Given the description of an element on the screen output the (x, y) to click on. 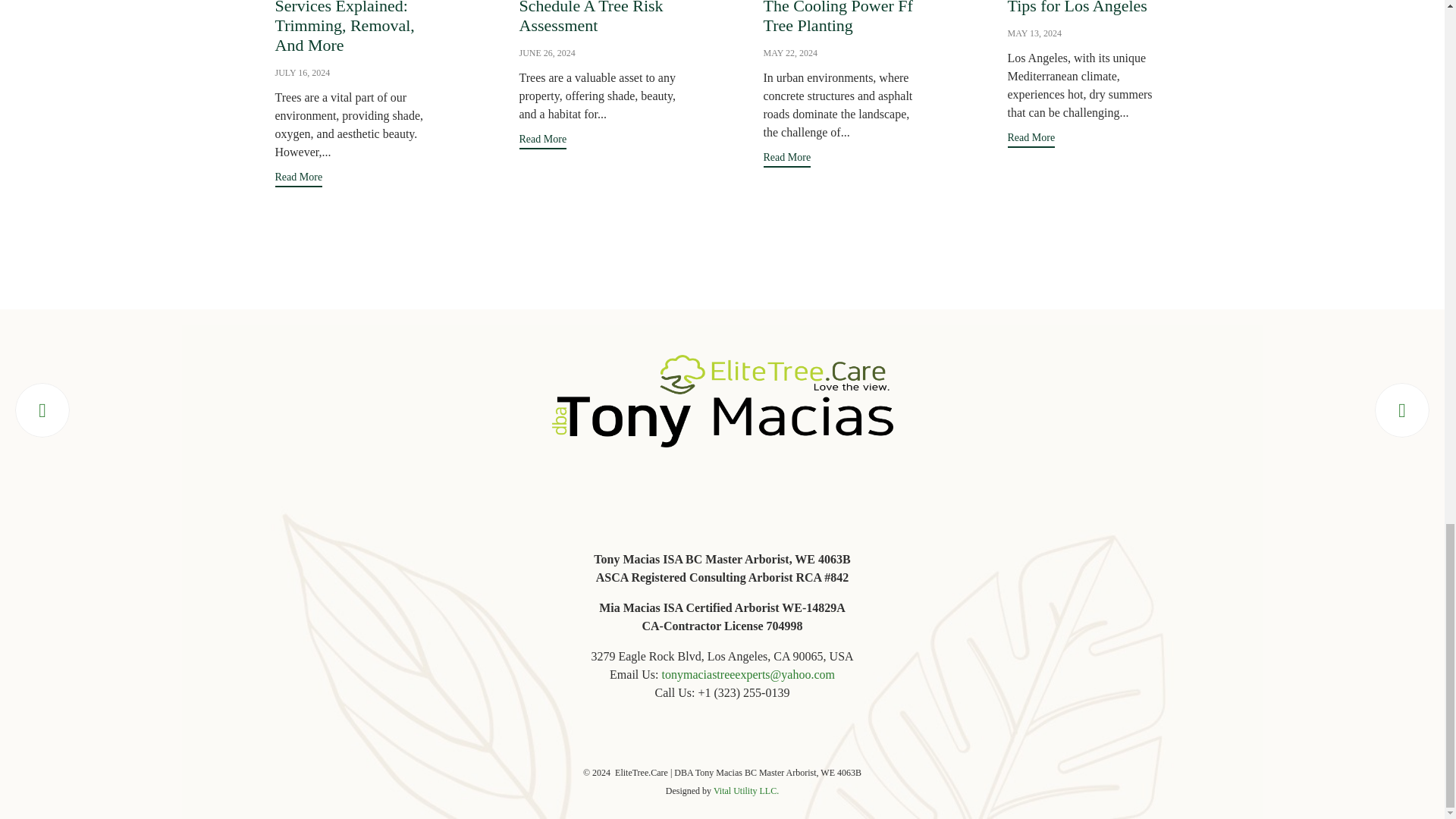
Combating Urban Heat: The Cooling Power Ff Tree Planting (842, 18)
JULY 16, 2024 (302, 72)
Combating Urban Heat: The Cooling Power Ff Tree Planting (789, 52)
